Given the description of an element on the screen output the (x, y) to click on. 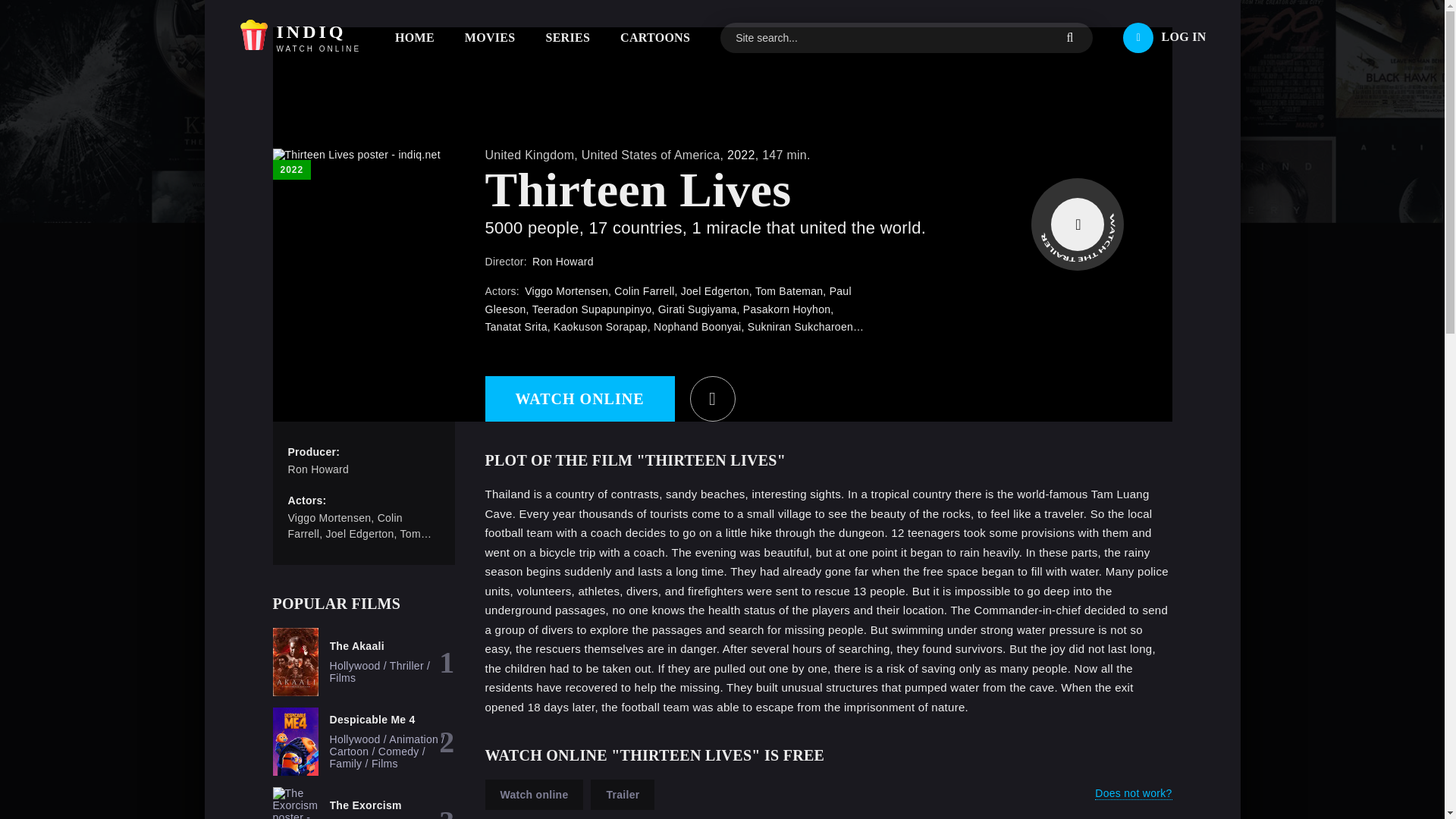
2022 (740, 154)
CARTOONS (655, 37)
Does not work? (1133, 793)
The Exorcism poster - indiq.net (295, 803)
WATCH ONLINE (299, 37)
2022 (579, 398)
